Given the description of an element on the screen output the (x, y) to click on. 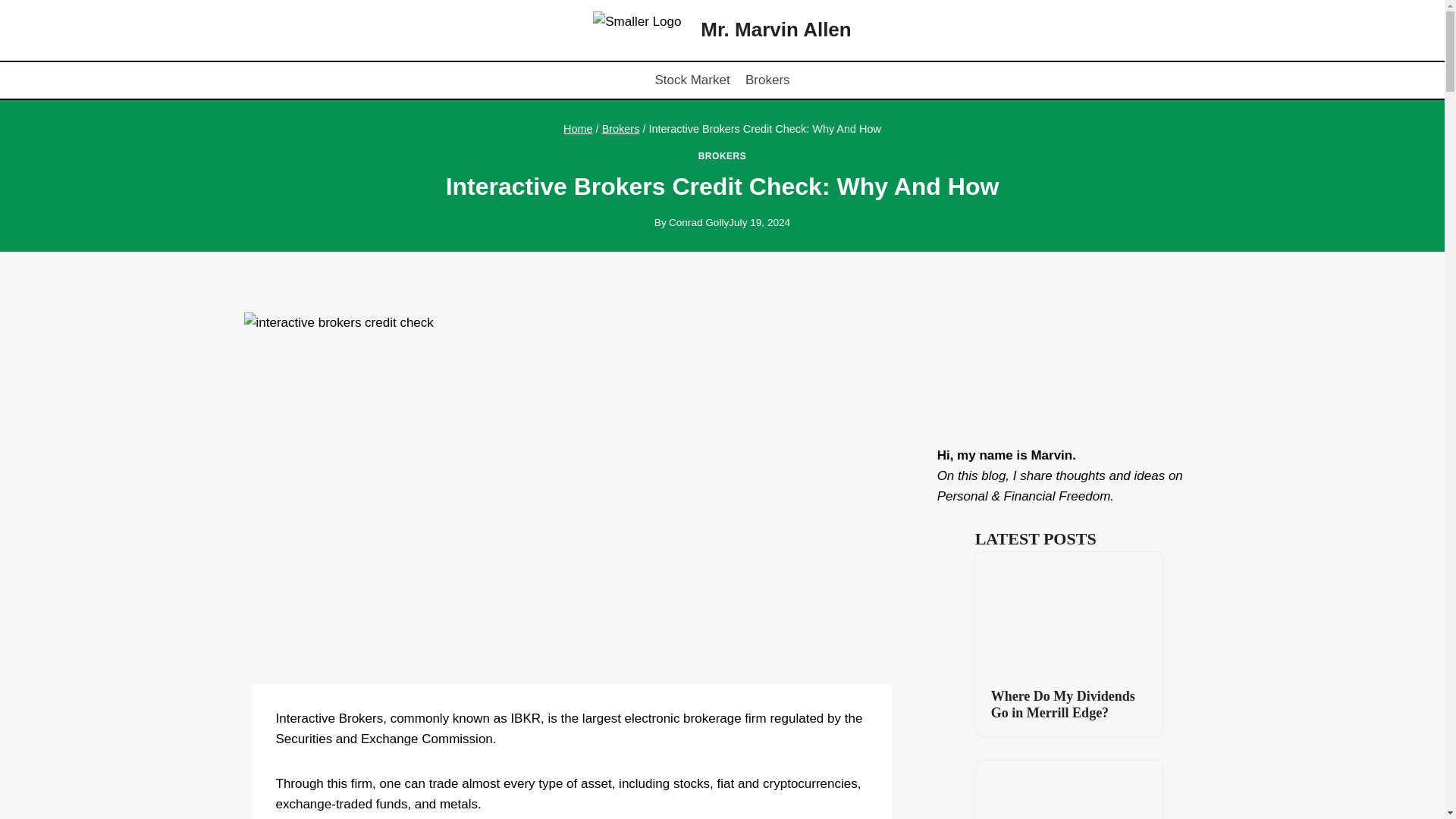
Conrad Golly (698, 222)
BROKERS (722, 155)
Mr. Marvin Allen (721, 30)
Where Do My Dividends Go in Merrill Edge? 9 (1068, 614)
Brokers (767, 80)
Home (577, 128)
Where Is Interactive Brokers Server Location 10 (1068, 789)
Stock Market (692, 80)
Brokers (621, 128)
